Given the description of an element on the screen output the (x, y) to click on. 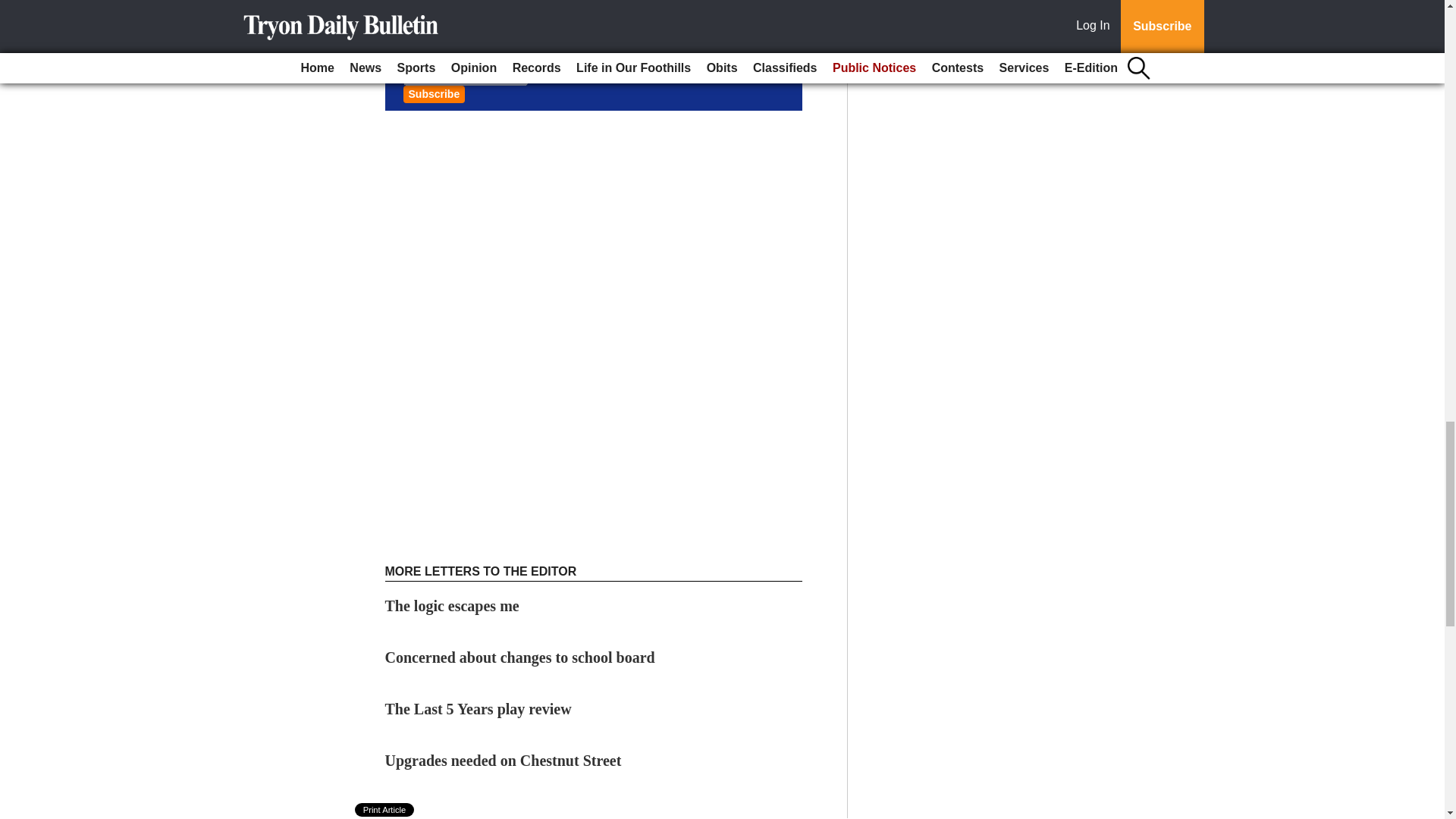
Subscribe (434, 94)
The Last 5 Years play review (478, 709)
Subscribe (434, 94)
The logic escapes me  (453, 605)
Upgrades needed on Chestnut Street (503, 760)
Concerned about changes to school board (520, 657)
